Given the description of an element on the screen output the (x, y) to click on. 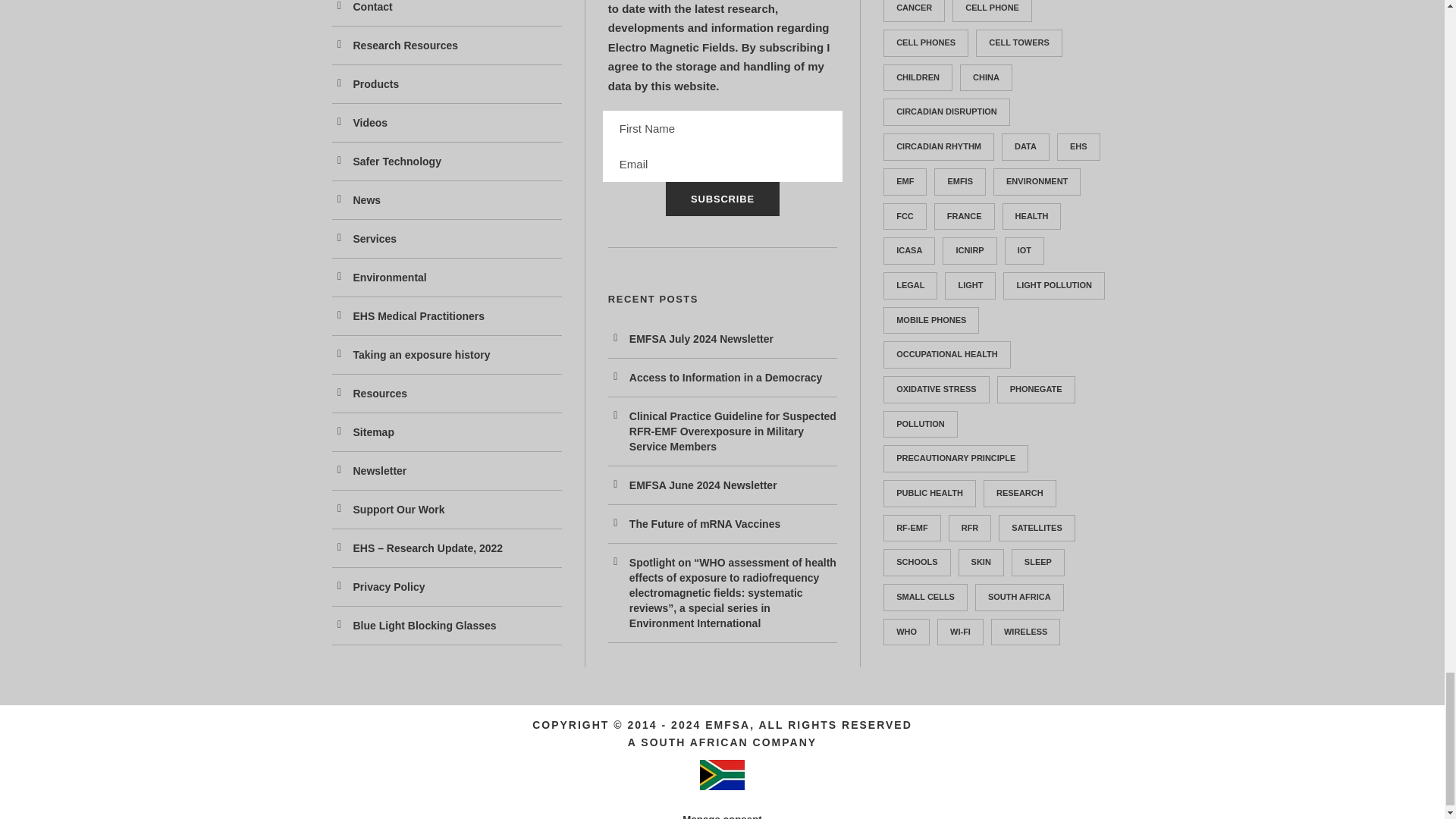
Subscribe (721, 198)
